Given the description of an element on the screen output the (x, y) to click on. 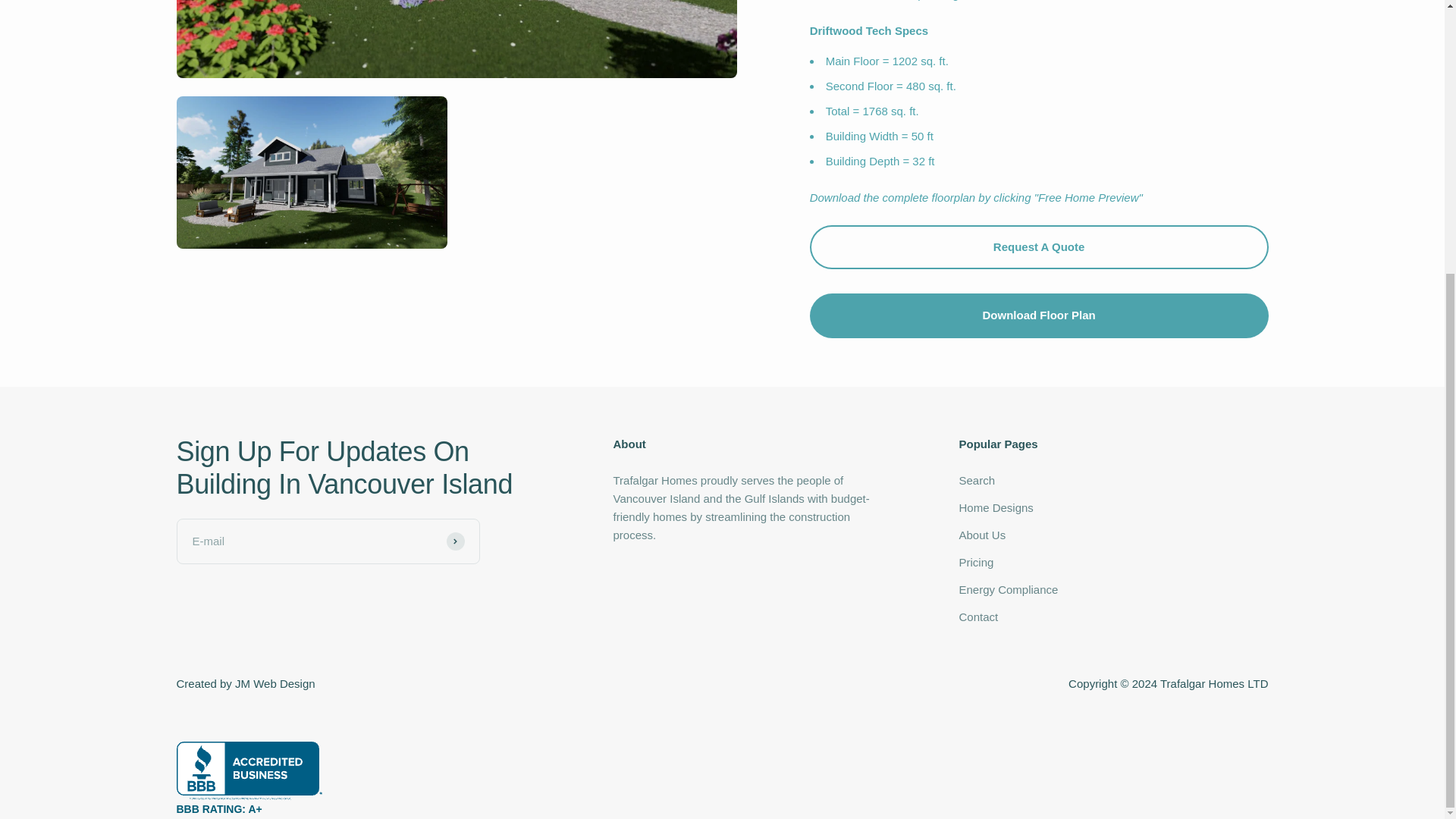
Pricing (975, 562)
Home Designs (995, 507)
Download Floor Plan (1038, 315)
About Us (982, 535)
Contact (977, 617)
Created by JM Web Design (245, 683)
Search (976, 480)
Subscribe (454, 541)
Request A Quote (1038, 247)
Energy Compliance (1008, 589)
